Given the description of an element on the screen output the (x, y) to click on. 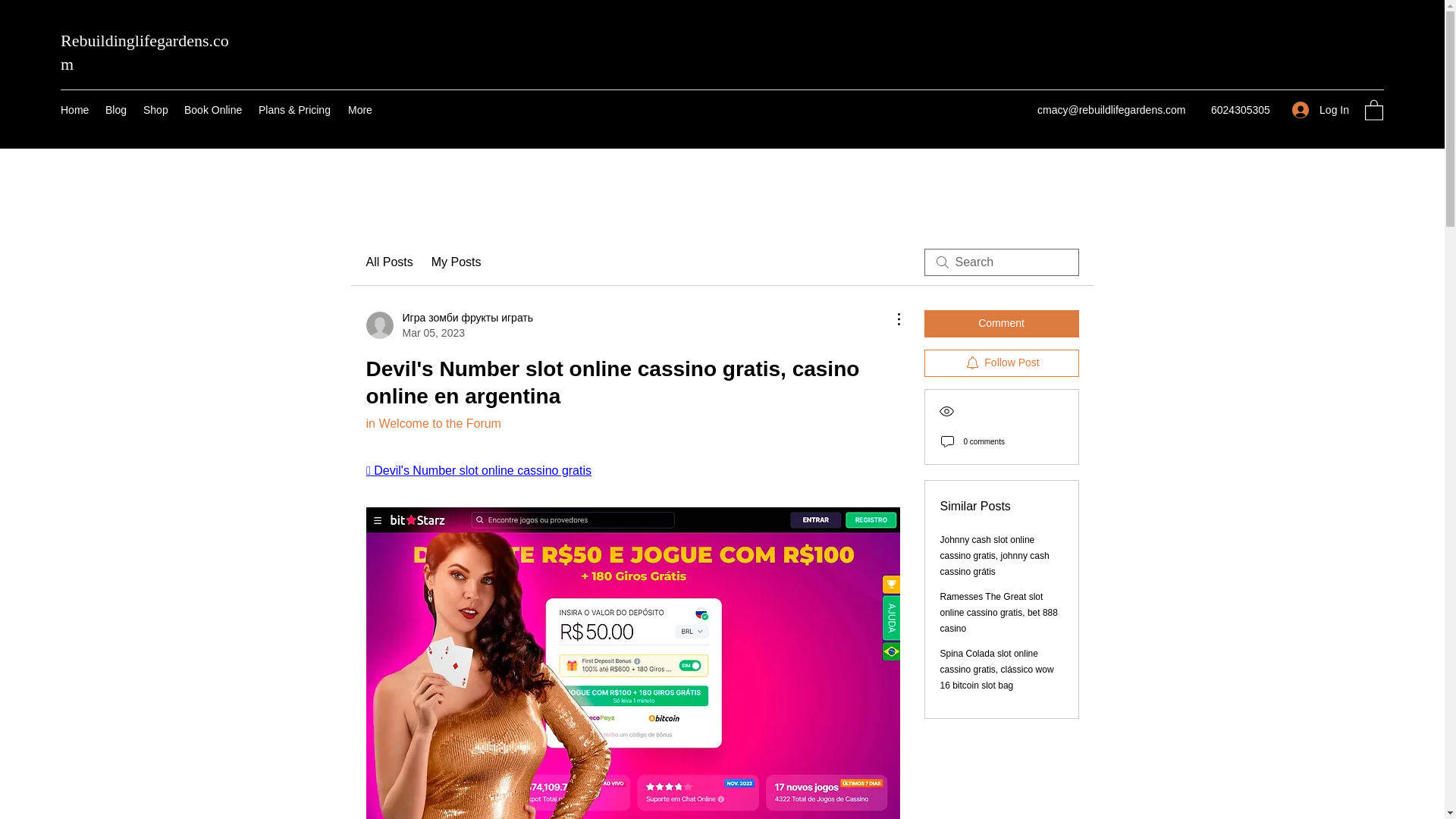
Comment (1000, 323)
Book Online (213, 109)
All Posts (388, 262)
Rebuildinglifegardens.com (144, 52)
in Welcome to the Forum (432, 422)
Blog (116, 109)
My Posts (455, 262)
Follow Post (1000, 362)
Shop (155, 109)
Log In (1320, 109)
Home (74, 109)
